Given the description of an element on the screen output the (x, y) to click on. 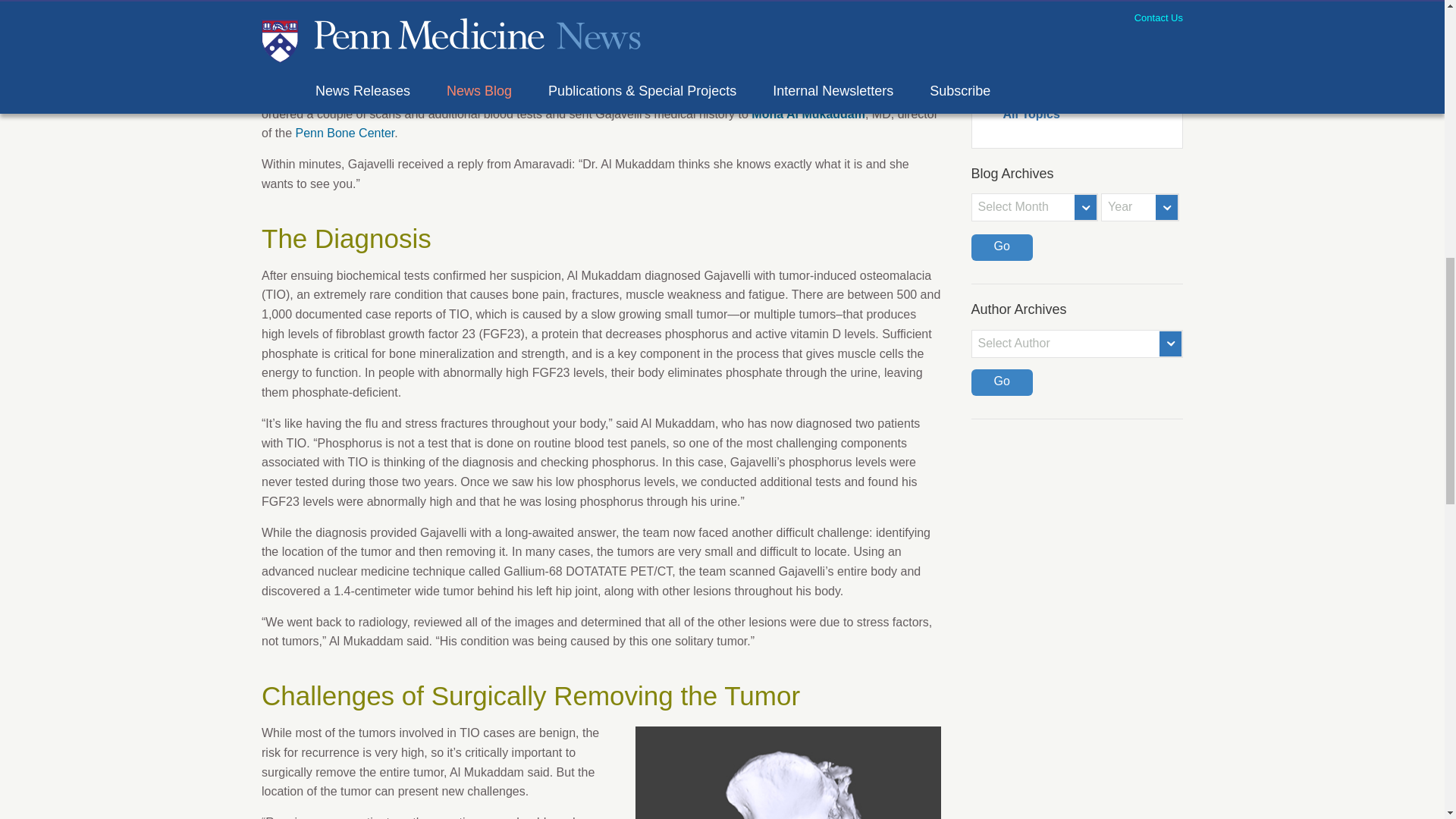
Abramson Cancer Center (842, 74)
Go (1001, 247)
Mona Al Mukaddam (807, 113)
Behavioral Health (1086, 9)
Community (1086, 87)
Penn Bone Center (344, 132)
Neurology (1086, 35)
Go (1001, 382)
All Topics (1086, 114)
